Given the description of an element on the screen output the (x, y) to click on. 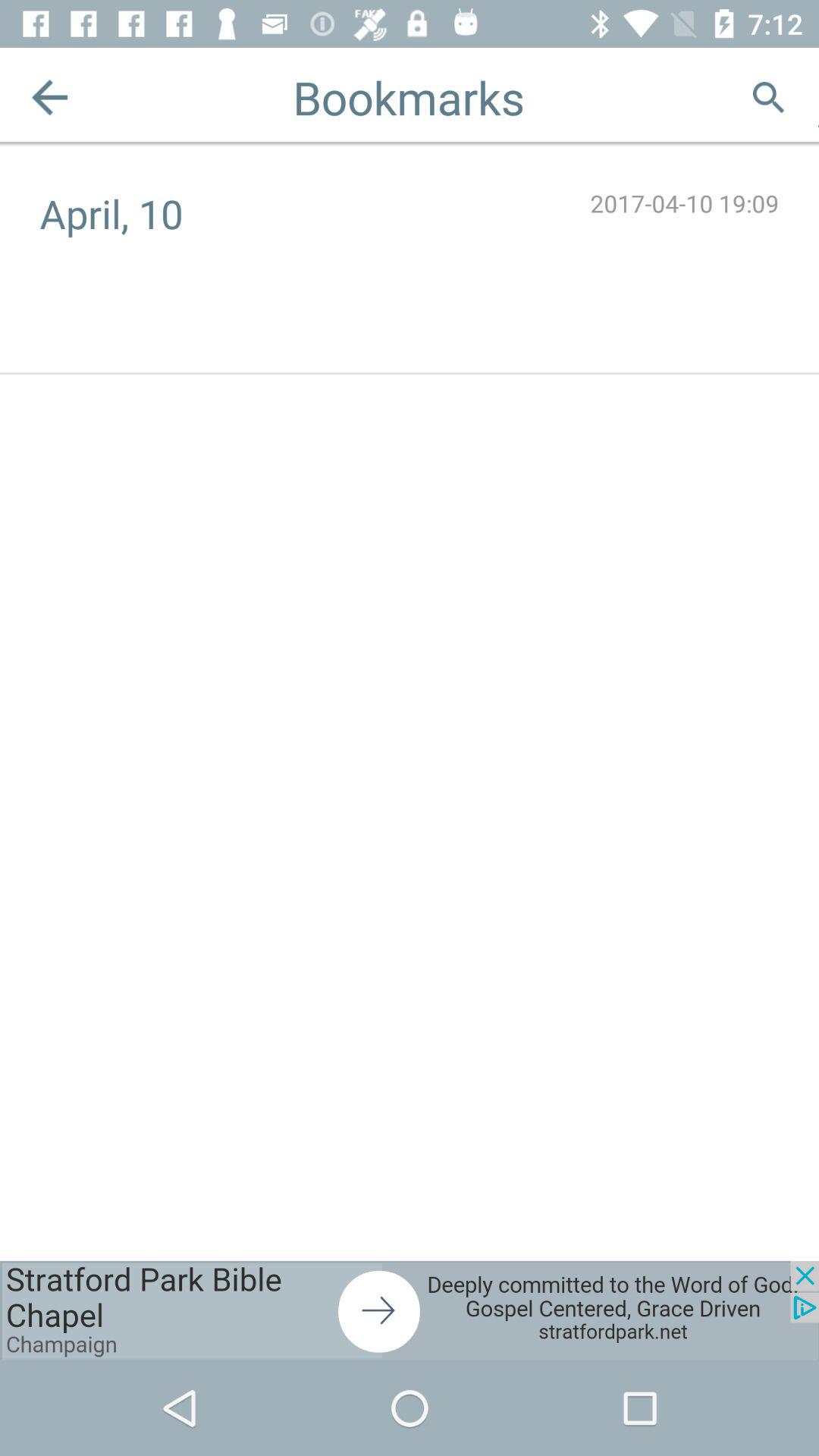
go to search (768, 97)
